Given the description of an element on the screen output the (x, y) to click on. 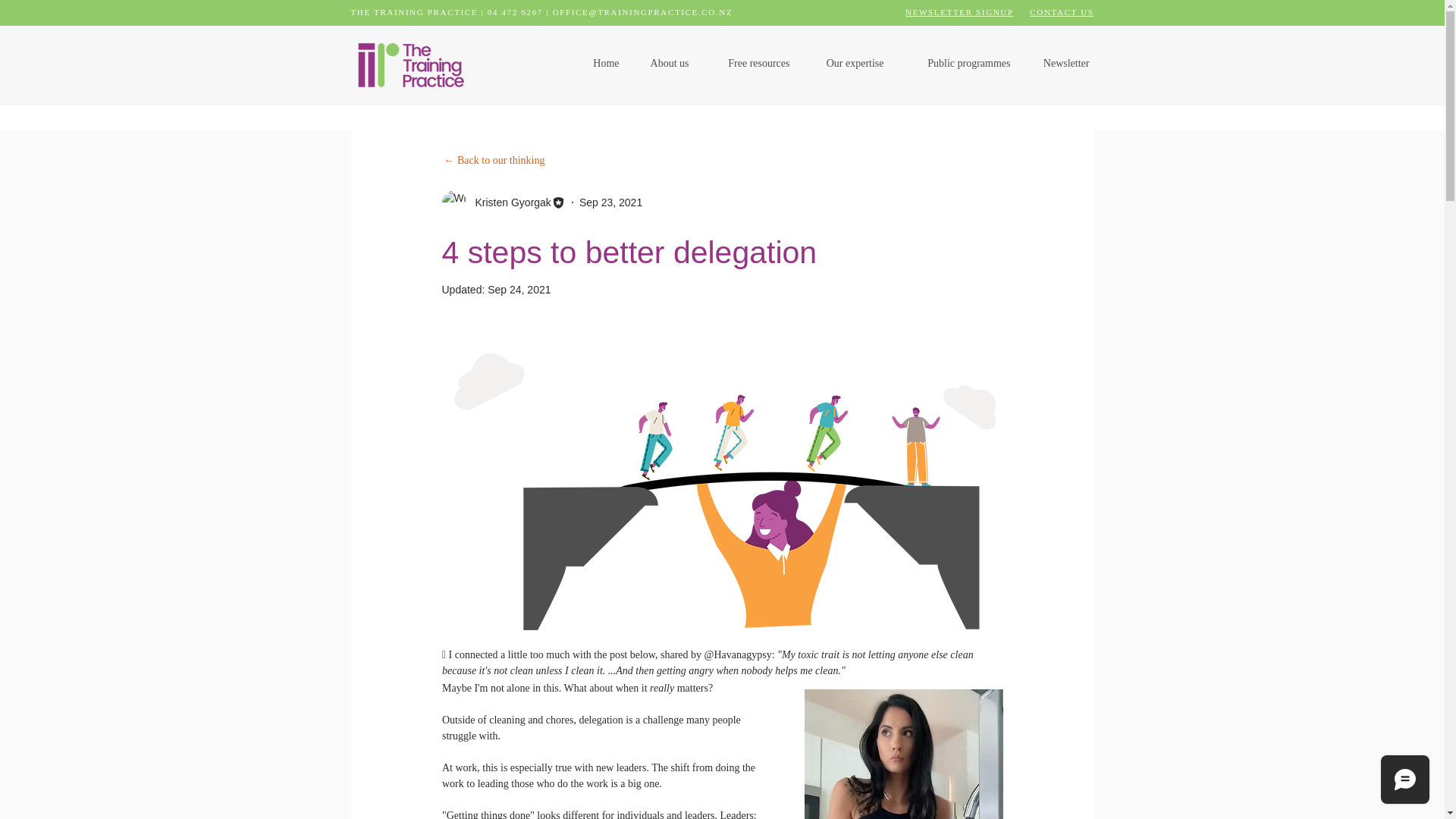
CONTACT US (1061, 11)
Newsletter (1061, 63)
Kristen Gyorgak (507, 201)
About us (665, 63)
Free resources (751, 63)
Sep 23, 2021 (610, 201)
Public programmes (958, 63)
NEWSLETTER SIGNUP (959, 11)
Sep 24, 2021 (518, 289)
04 472 6267 (515, 11)
